Given the description of an element on the screen output the (x, y) to click on. 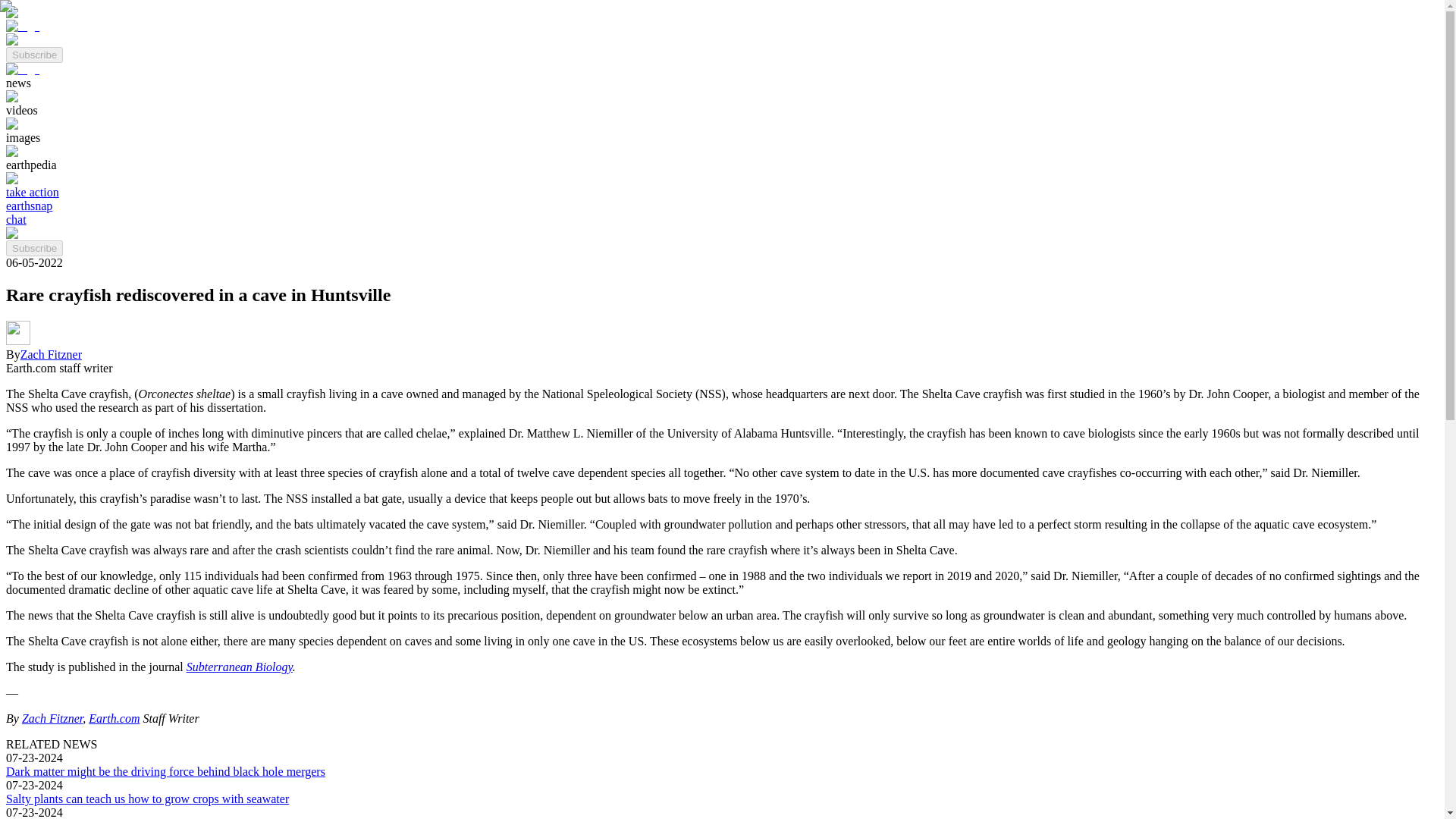
take action (32, 192)
Subscribe (33, 248)
Subscribe (33, 246)
Subscribe (33, 54)
earthsnap (28, 205)
Subterranean Biology (239, 666)
Earth.com (113, 717)
Salty plants can teach us how to grow crops with seawater (146, 798)
Zach Fitzner (50, 354)
Subscribe (33, 53)
chat (15, 219)
Zach Fitzner (51, 717)
